Given the description of an element on the screen output the (x, y) to click on. 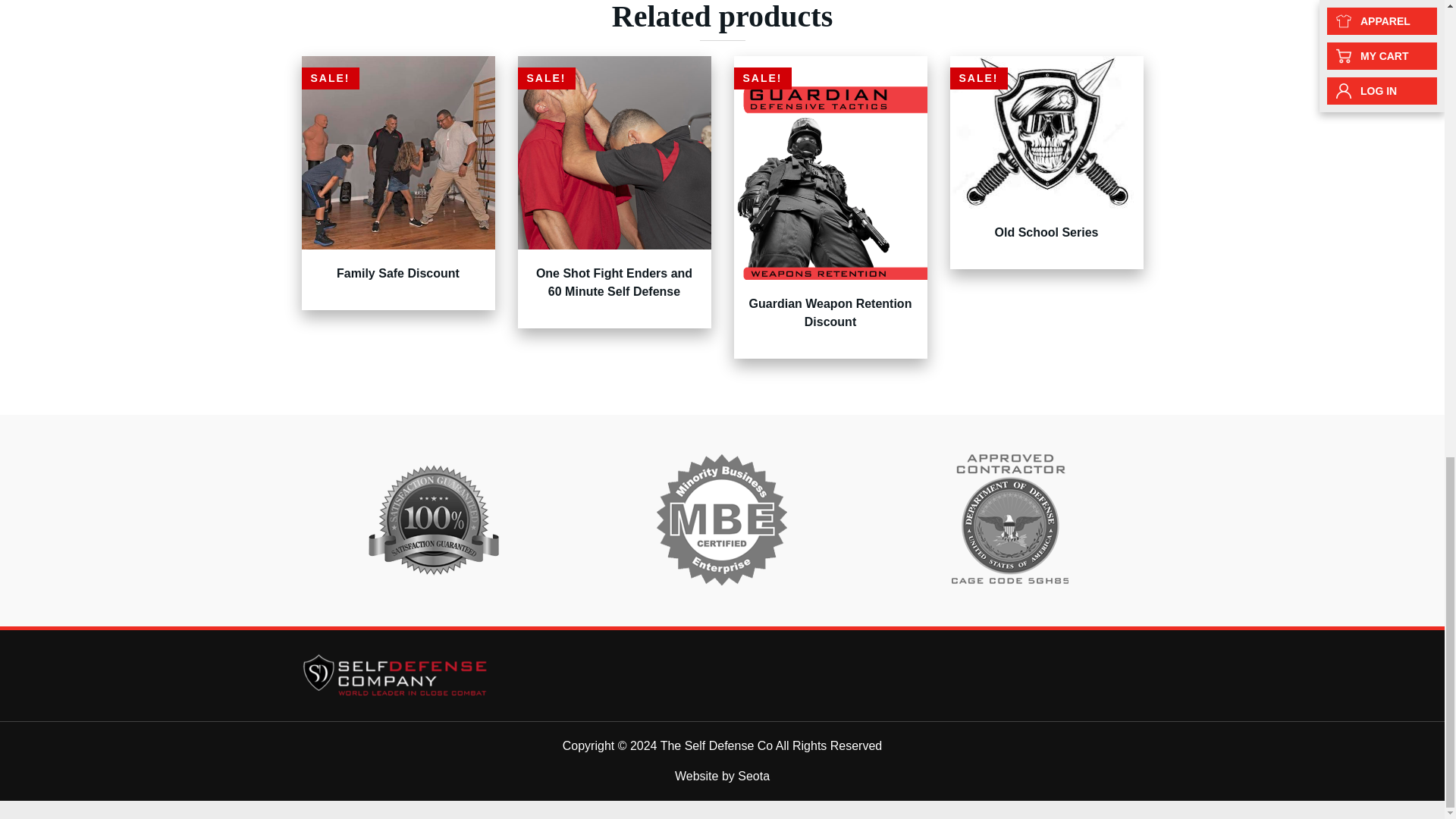
The Self Defense Company (396, 674)
Family Safe Discount (398, 273)
One Shot Fight Enders and 60 Minute Self Defense (614, 282)
Website by Seota (722, 775)
Old School Series (1046, 232)
Guardian Weapon Retention Discount (830, 312)
